Given the description of an element on the screen output the (x, y) to click on. 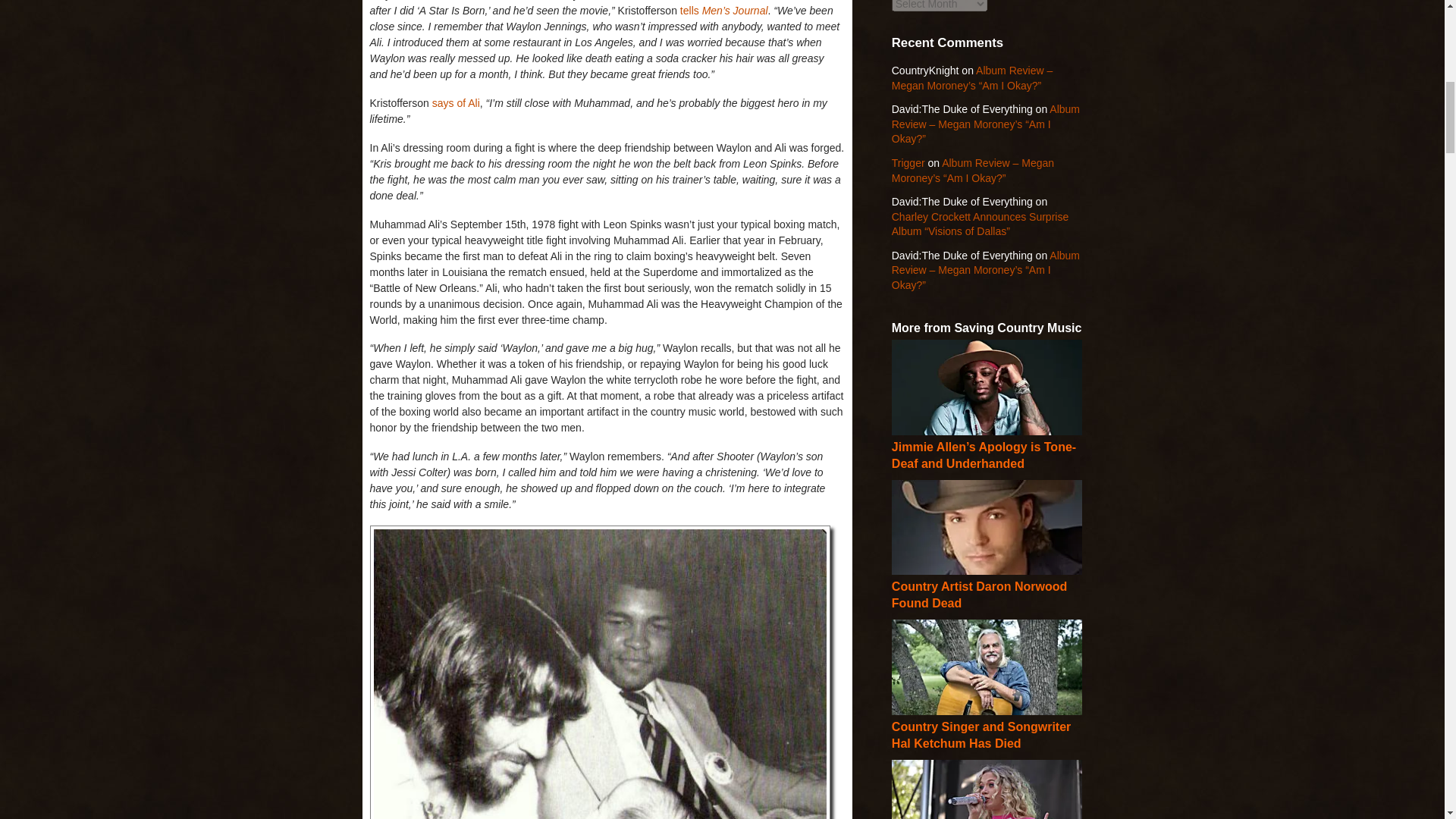
says of Ali (456, 102)
